Given the description of an element on the screen output the (x, y) to click on. 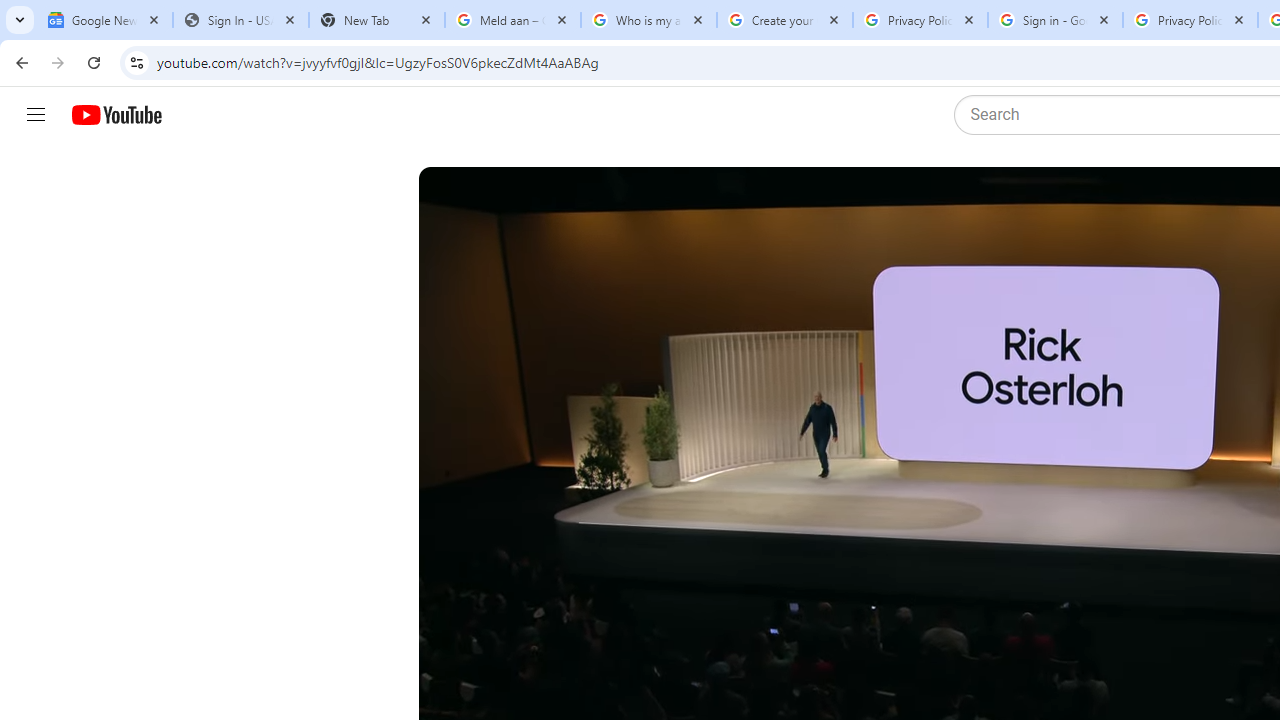
Sign in - Google Accounts (1055, 20)
Guide (35, 115)
